Given the description of an element on the screen output the (x, y) to click on. 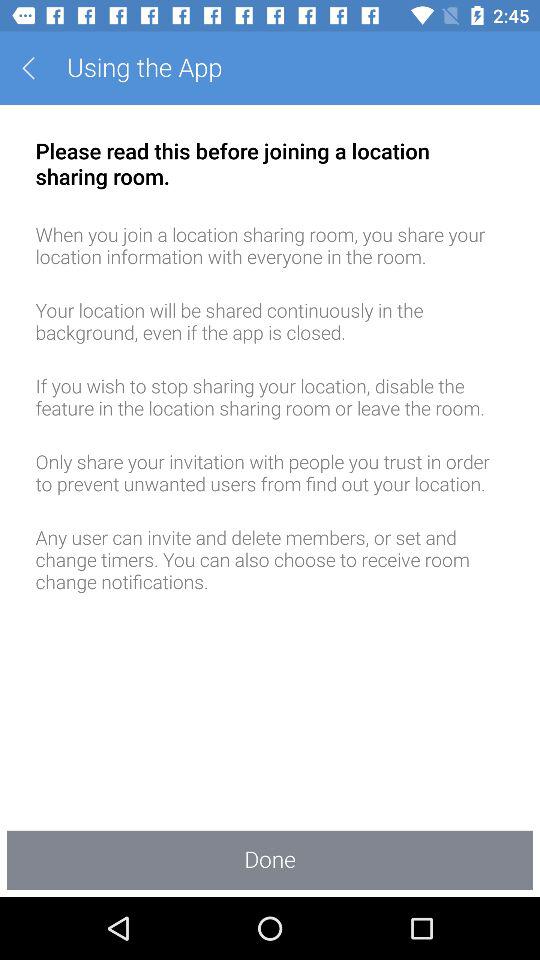
go back to the previous screen (35, 67)
